Given the description of an element on the screen output the (x, y) to click on. 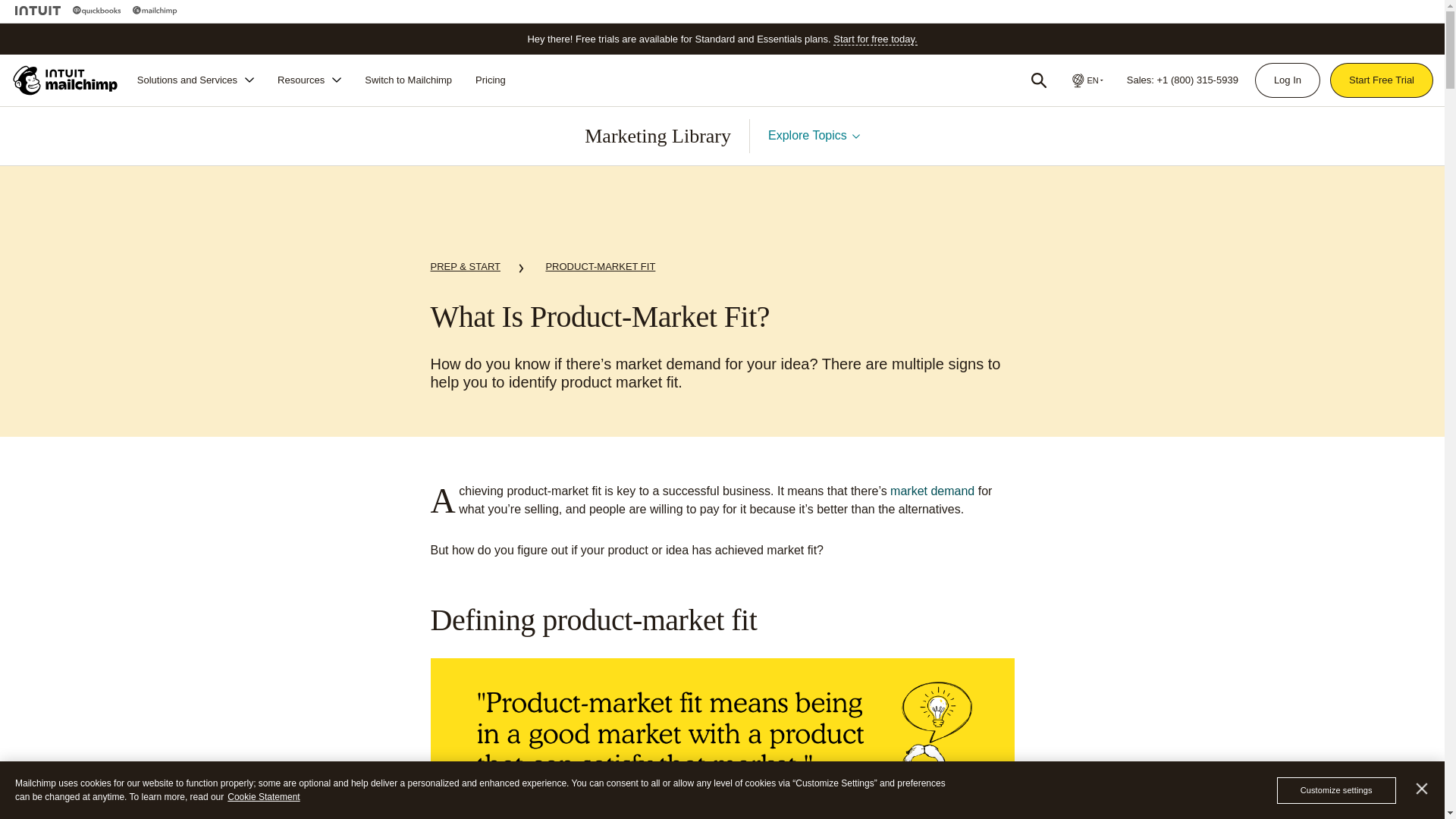
Switch to Mailchimp (408, 79)
Resources (308, 79)
Explore Topics (814, 135)
Search (1038, 80)
Solutions and Services (195, 79)
Log In (1287, 80)
Pricing (490, 79)
Start Free Trial (1381, 80)
PRODUCT-MARKET FIT (599, 266)
Marketing Library (657, 136)
